Given the description of an element on the screen output the (x, y) to click on. 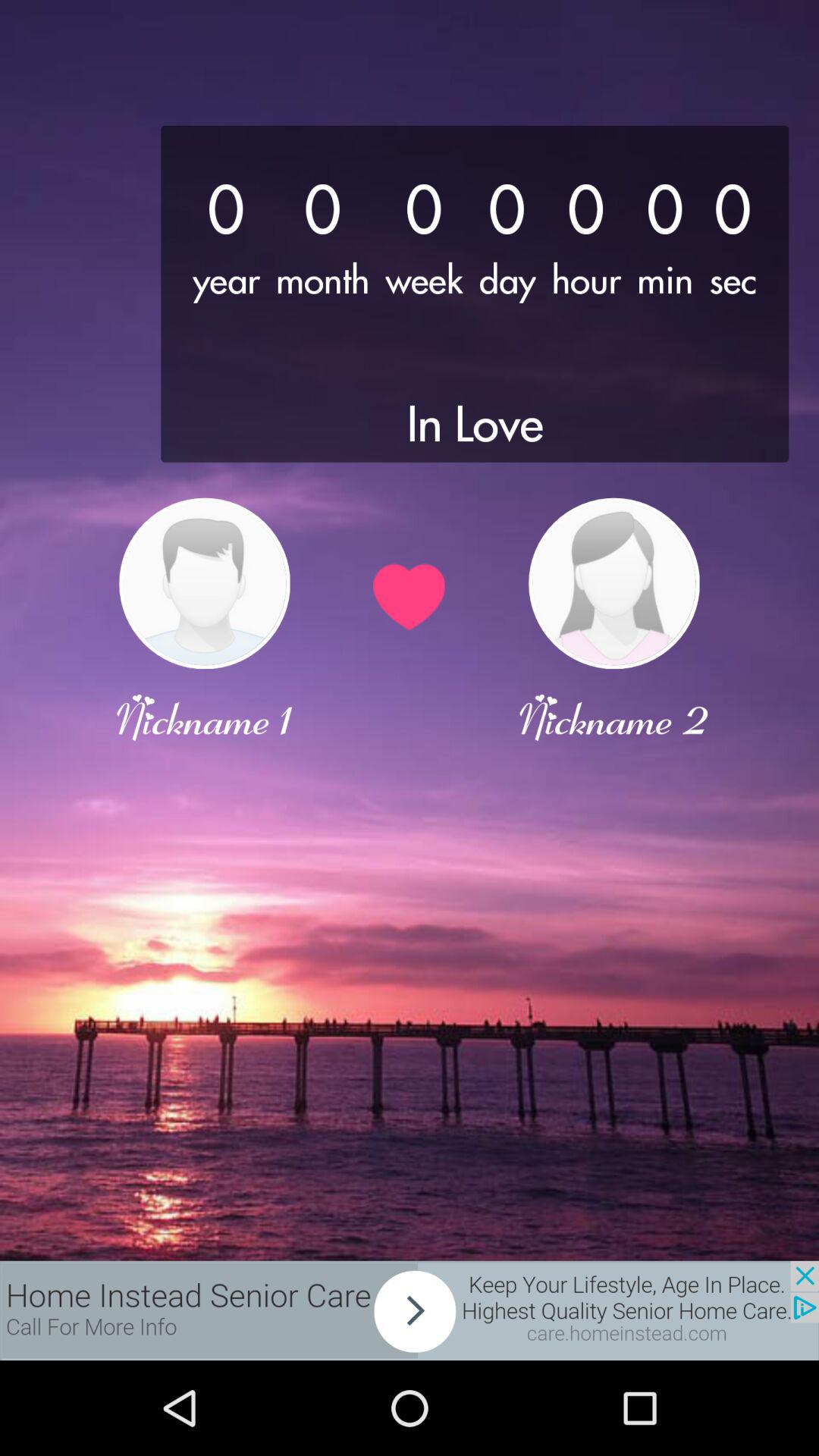
advertisement page (409, 1310)
